Given the description of an element on the screen output the (x, y) to click on. 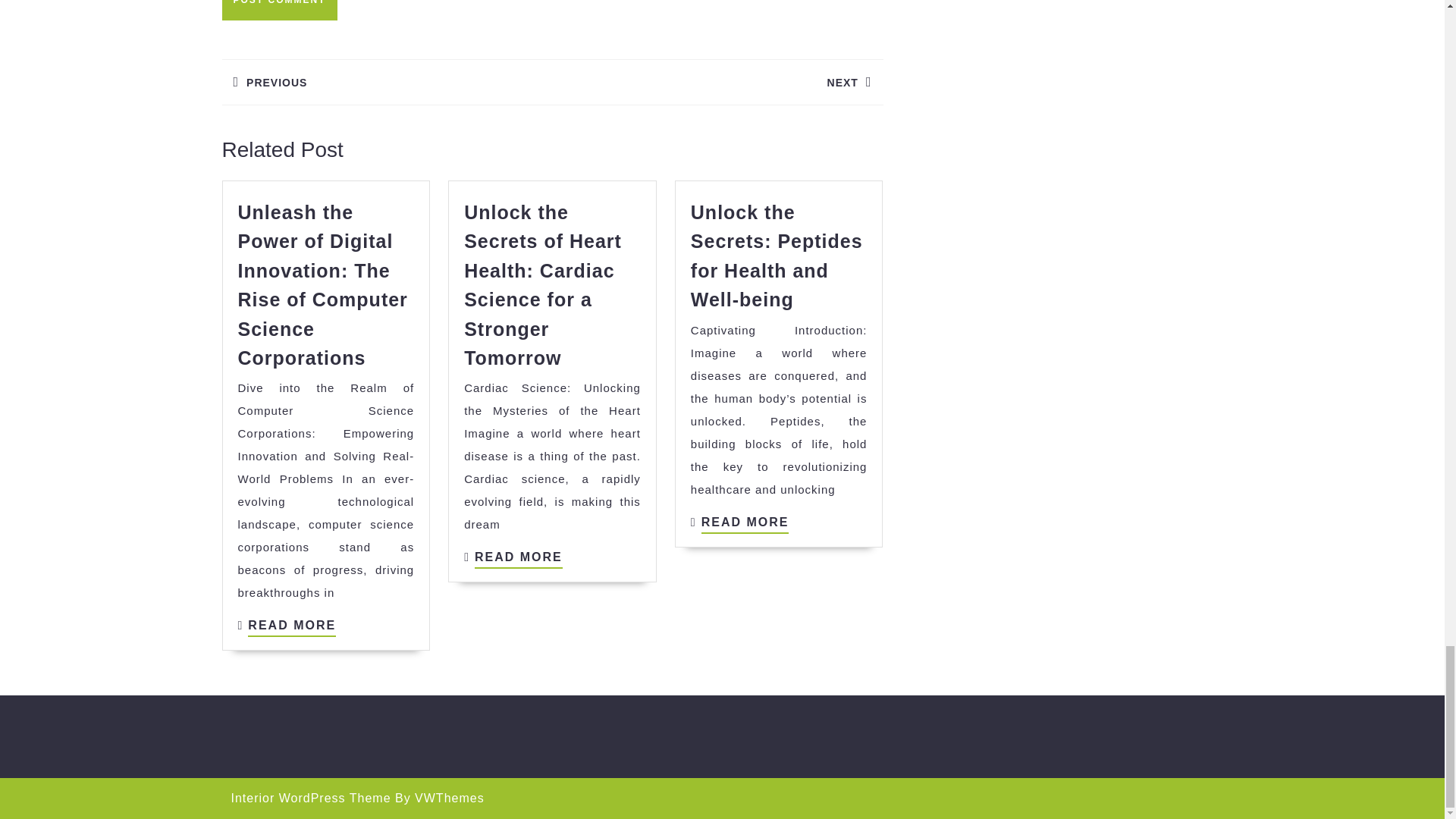
Post Comment (278, 10)
Post Comment (278, 10)
